Given the description of an element on the screen output the (x, y) to click on. 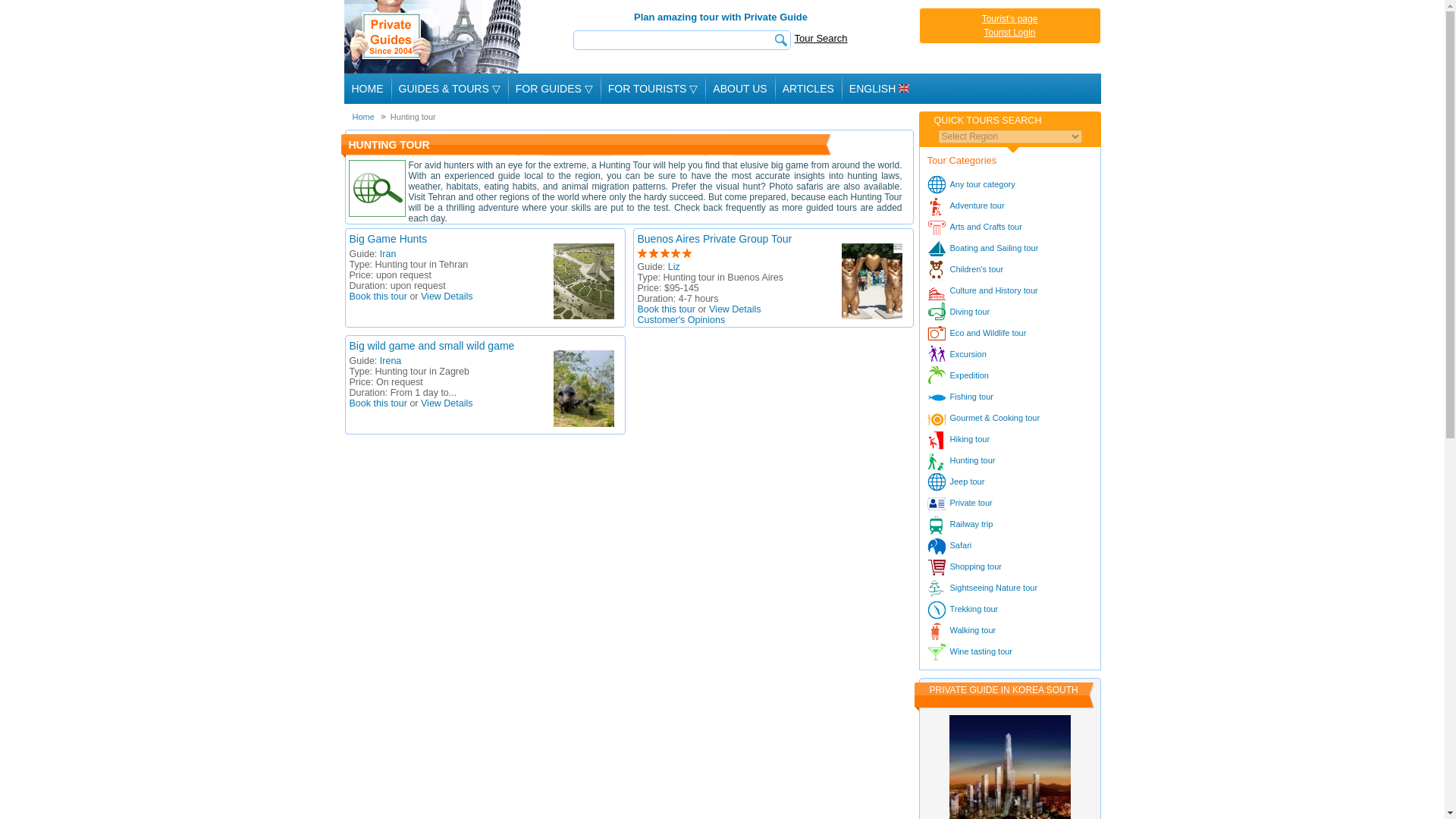
Buenos Aires Private Group Tour (714, 238)
HOME (367, 88)
Hunting tour in Tehran (583, 281)
Book this tour (665, 308)
Tourist Login (1009, 32)
Big wild game and small wild game (431, 345)
Irena (390, 360)
Charlie. Seoul. Korea South (1009, 766)
View Details (735, 308)
Hunting tour (377, 188)
Hunting tour (407, 116)
View Details (446, 403)
Home (363, 116)
Tour Search (820, 38)
Hunting tour in Buenos Aires (871, 281)
